Given the description of an element on the screen output the (x, y) to click on. 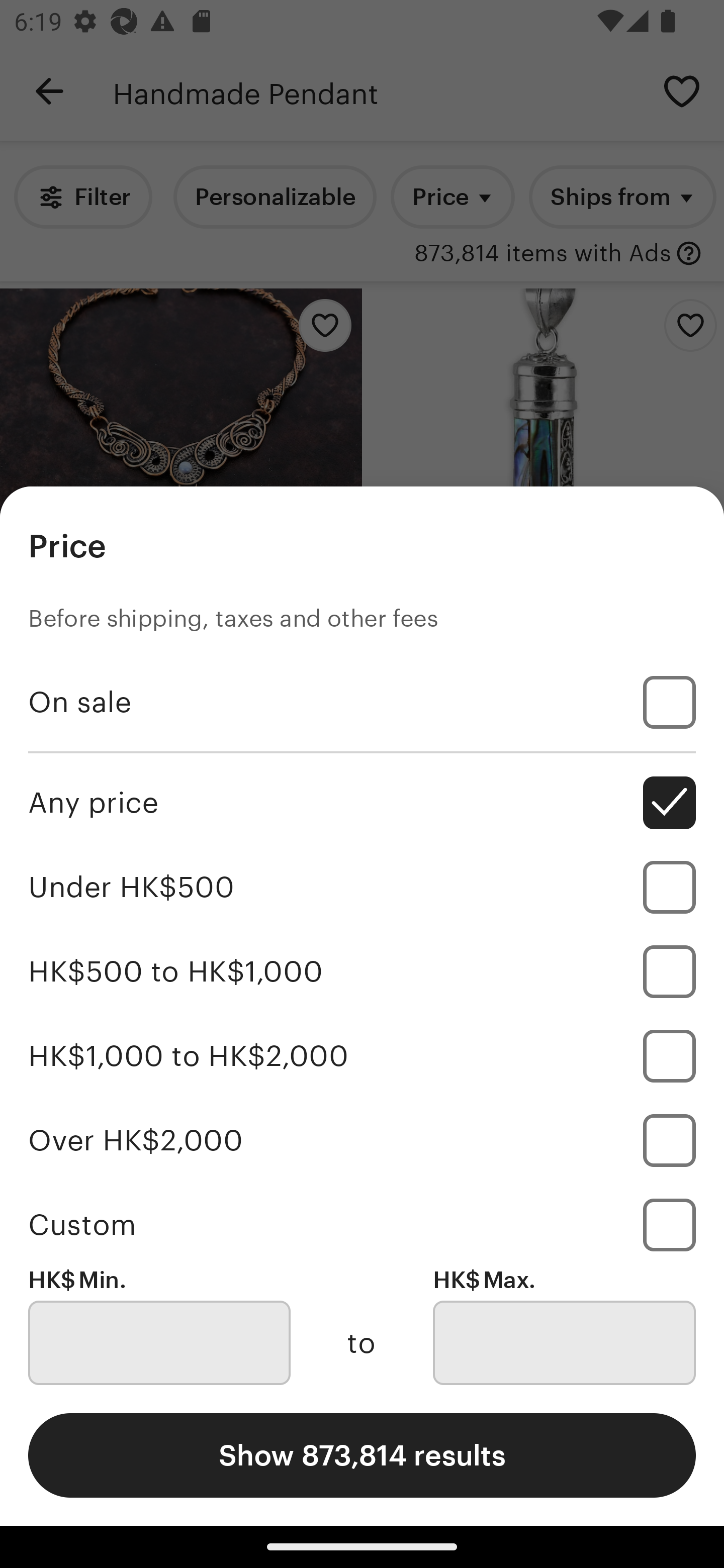
On sale (362, 702)
Any price (362, 802)
Under HK$500 (362, 887)
HK$500 to HK$1,000 (362, 970)
HK$1,000 to HK$2,000 (362, 1054)
Over HK$2,000 (362, 1139)
Custom (362, 1224)
Show 873,814 results (361, 1454)
